Given the description of an element on the screen output the (x, y) to click on. 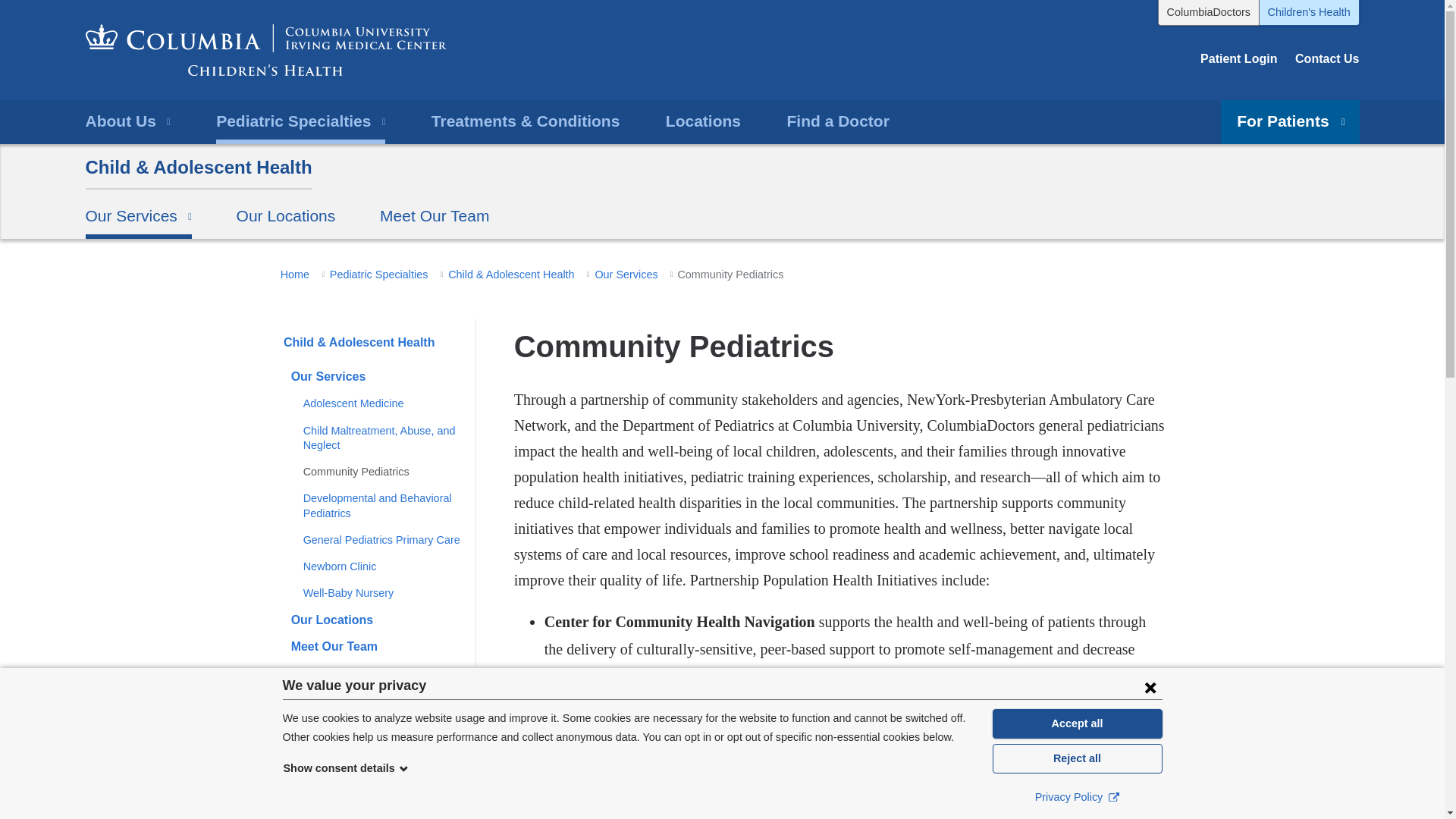
Contact Us (1326, 58)
Children's Health (1309, 12)
Privacy Policy External link Opens in a new window (1076, 796)
Accept all (1076, 723)
ColumbiaDoctors (1208, 12)
External link Opens in a new window (1113, 796)
Reject all (1076, 758)
About Us (127, 121)
Patient Login (1237, 58)
